Given the description of an element on the screen output the (x, y) to click on. 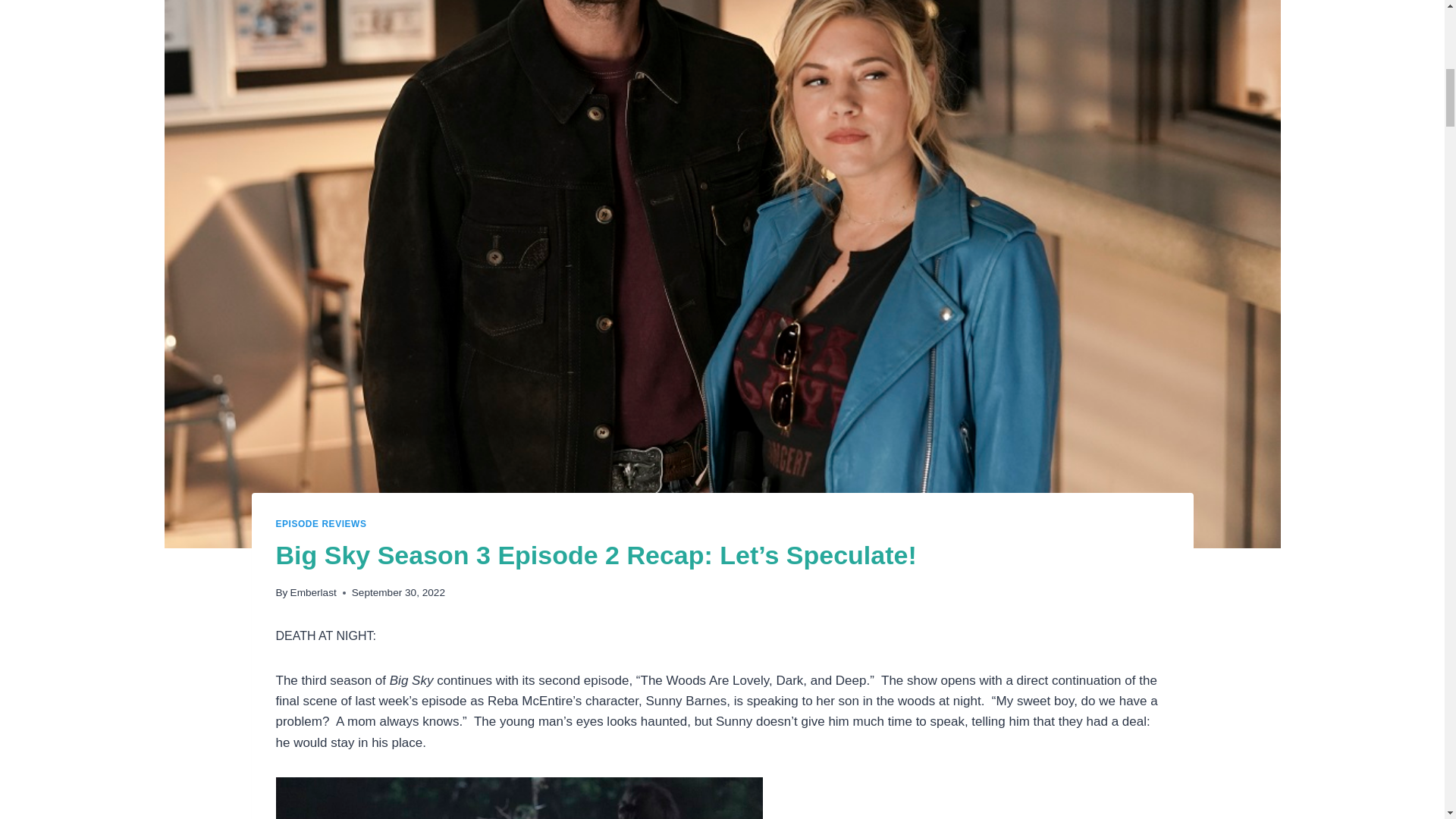
EPISODE REVIEWS (321, 523)
Emberlast (312, 592)
